Given the description of an element on the screen output the (x, y) to click on. 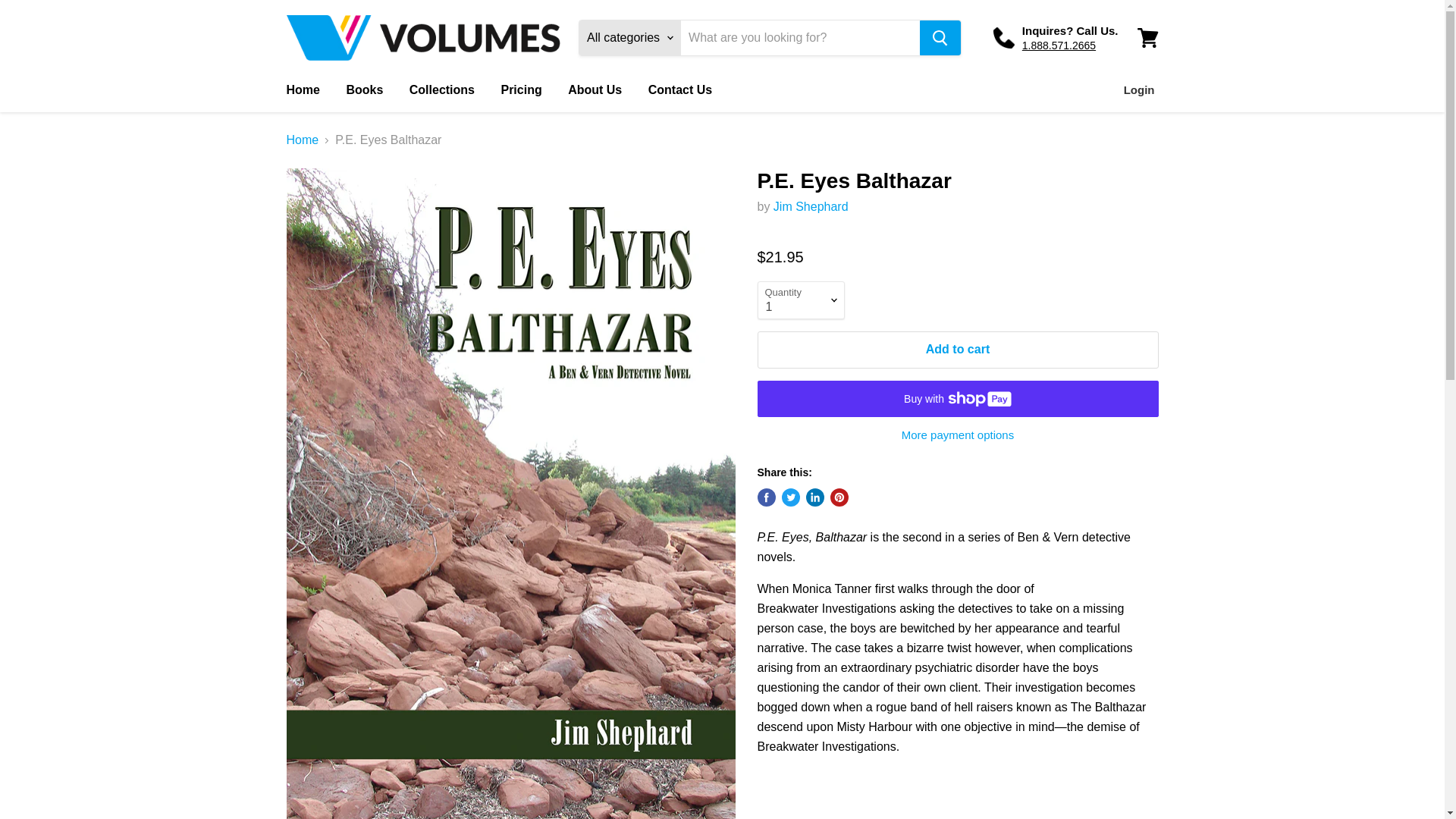
Pricing (521, 90)
Pin on Pinterest (838, 497)
Tweet on Twitter (789, 497)
Jim Shephard (810, 205)
Share on LinkedIn (814, 497)
Login (1139, 90)
Home (302, 90)
View cart (1147, 37)
Jim Shephard (810, 205)
Home (302, 140)
About Us (594, 90)
1.888.571.2665 (1059, 45)
Contact Us (680, 90)
Add to cart (957, 349)
Books (364, 90)
